Given the description of an element on the screen output the (x, y) to click on. 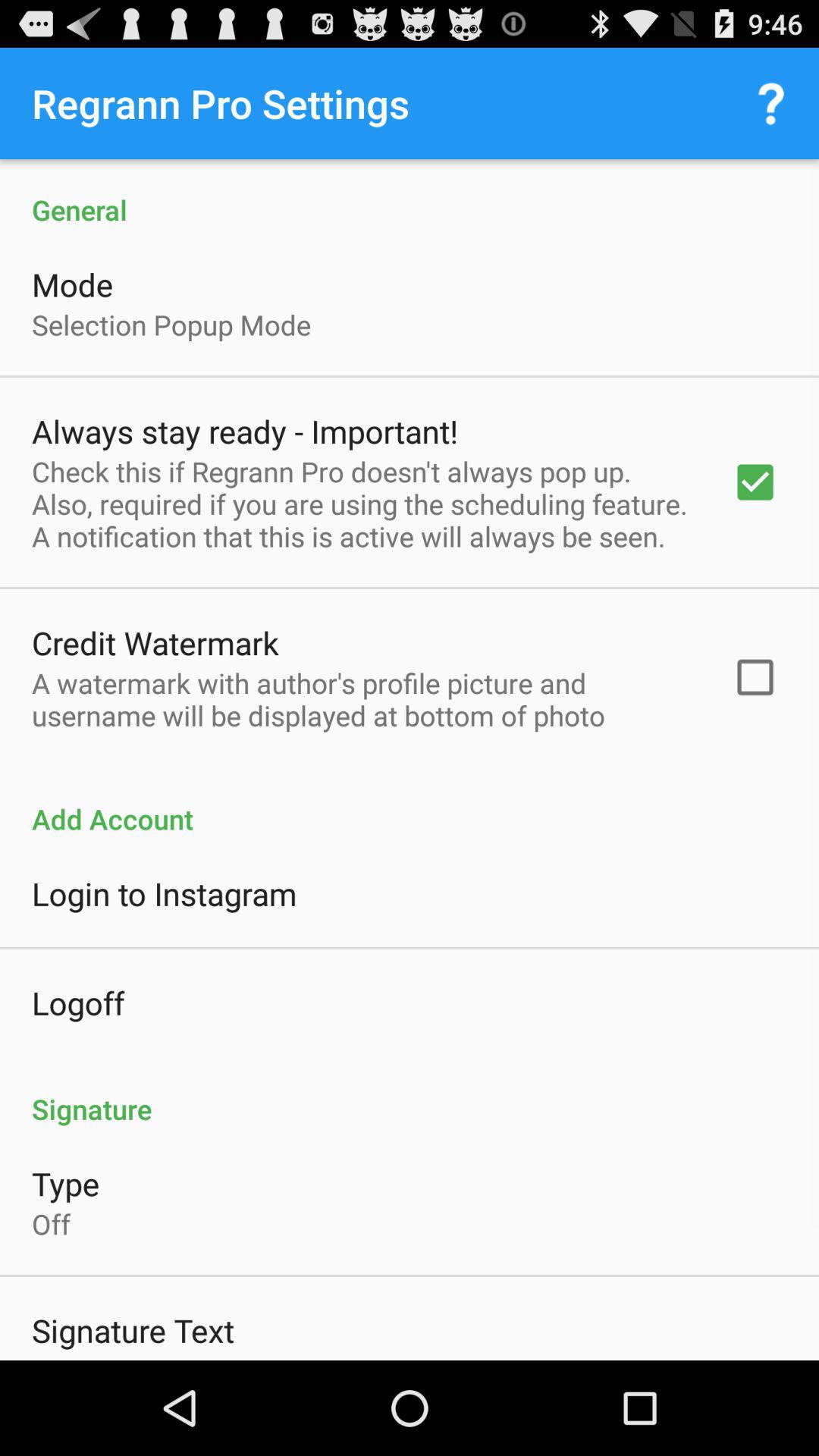
click icon above the add account item (361, 699)
